Given the description of an element on the screen output the (x, y) to click on. 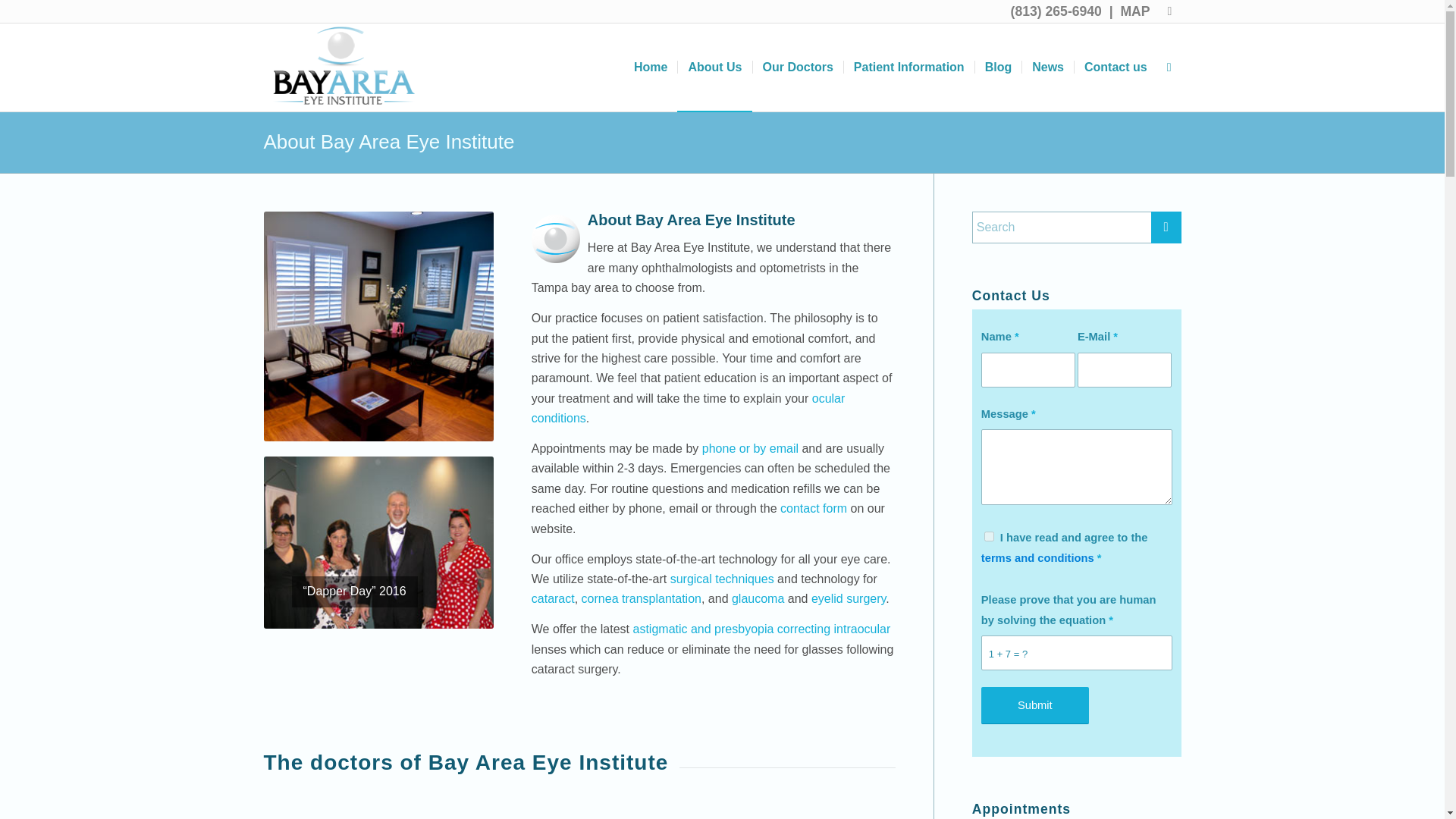
about-lobby (378, 326)
Our Doctors (797, 67)
Facebook (1169, 11)
true (989, 536)
Permanent Link: About Bay Area Eye Institute (389, 141)
tampa-bay-eye-doctor-baei (344, 67)
About Us (714, 67)
Home (650, 67)
eye-doctor-staff-dapper-03 (378, 542)
Submit (1035, 705)
Patient Information (908, 67)
MAP (1134, 11)
